Given the description of an element on the screen output the (x, y) to click on. 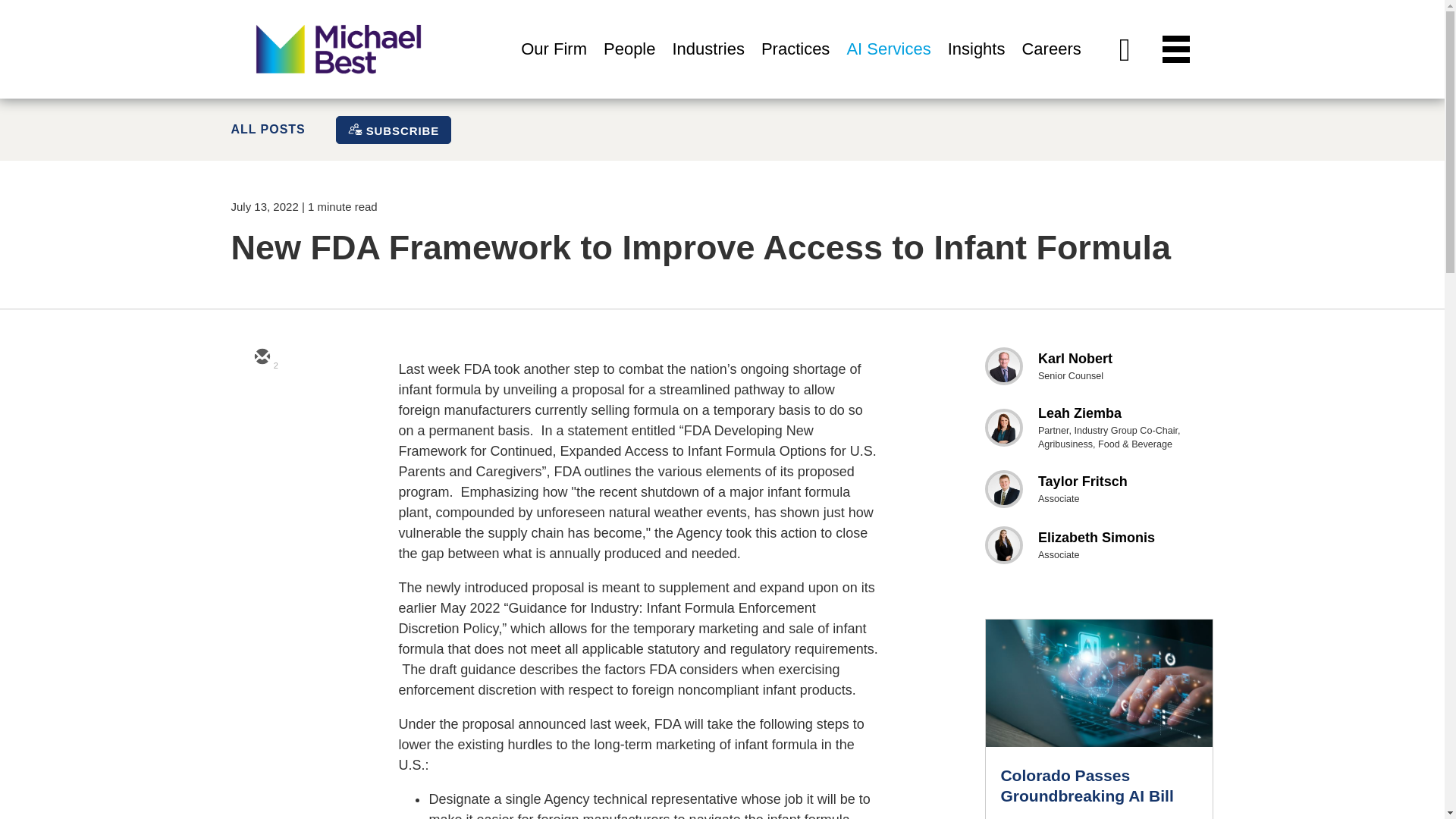
Industries (707, 66)
Our Firm (553, 66)
